Given the description of an element on the screen output the (x, y) to click on. 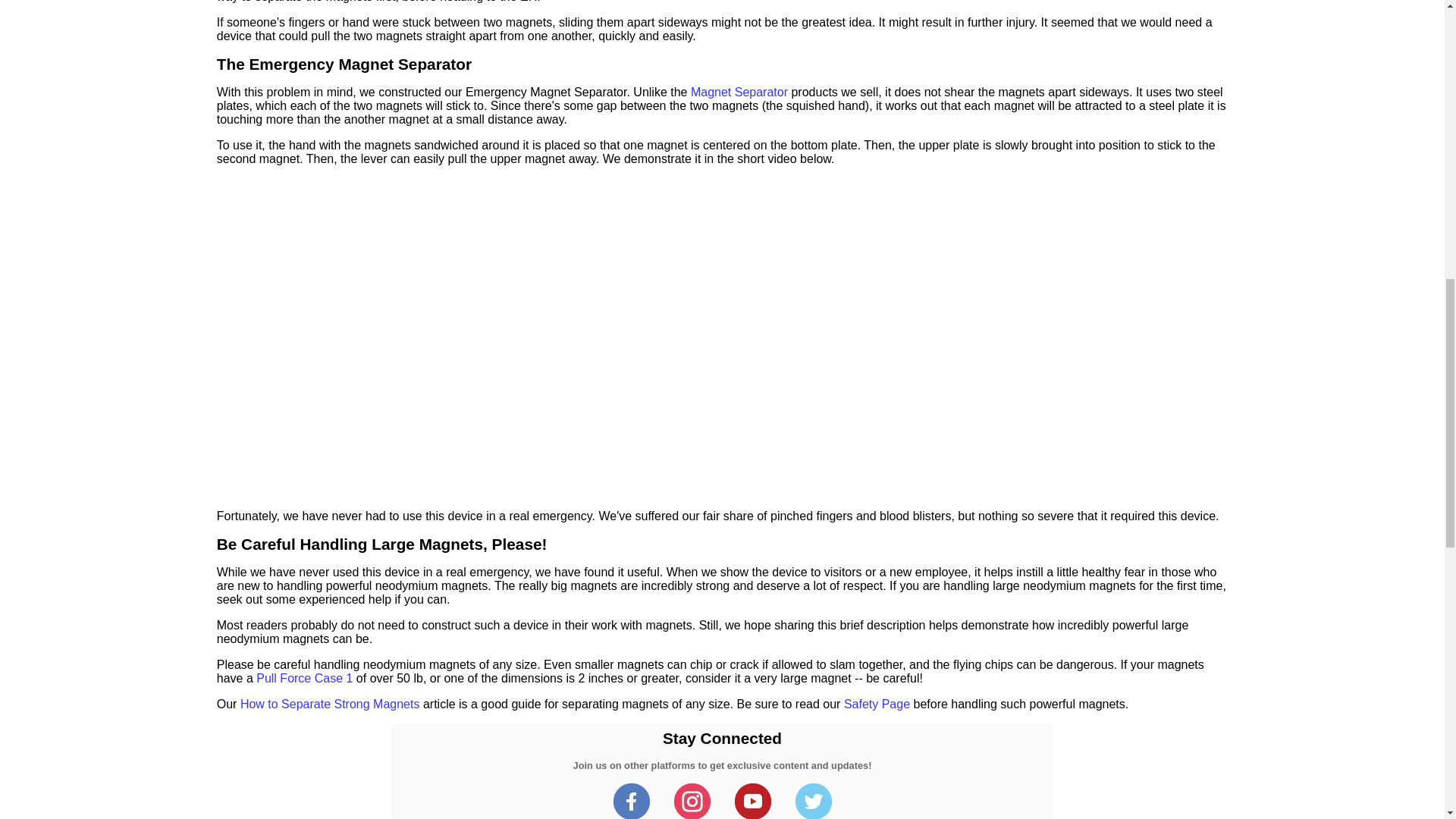
Instagram (691, 814)
Twitter (812, 814)
YouTube (751, 814)
Facebook (630, 814)
